Given the description of an element on the screen output the (x, y) to click on. 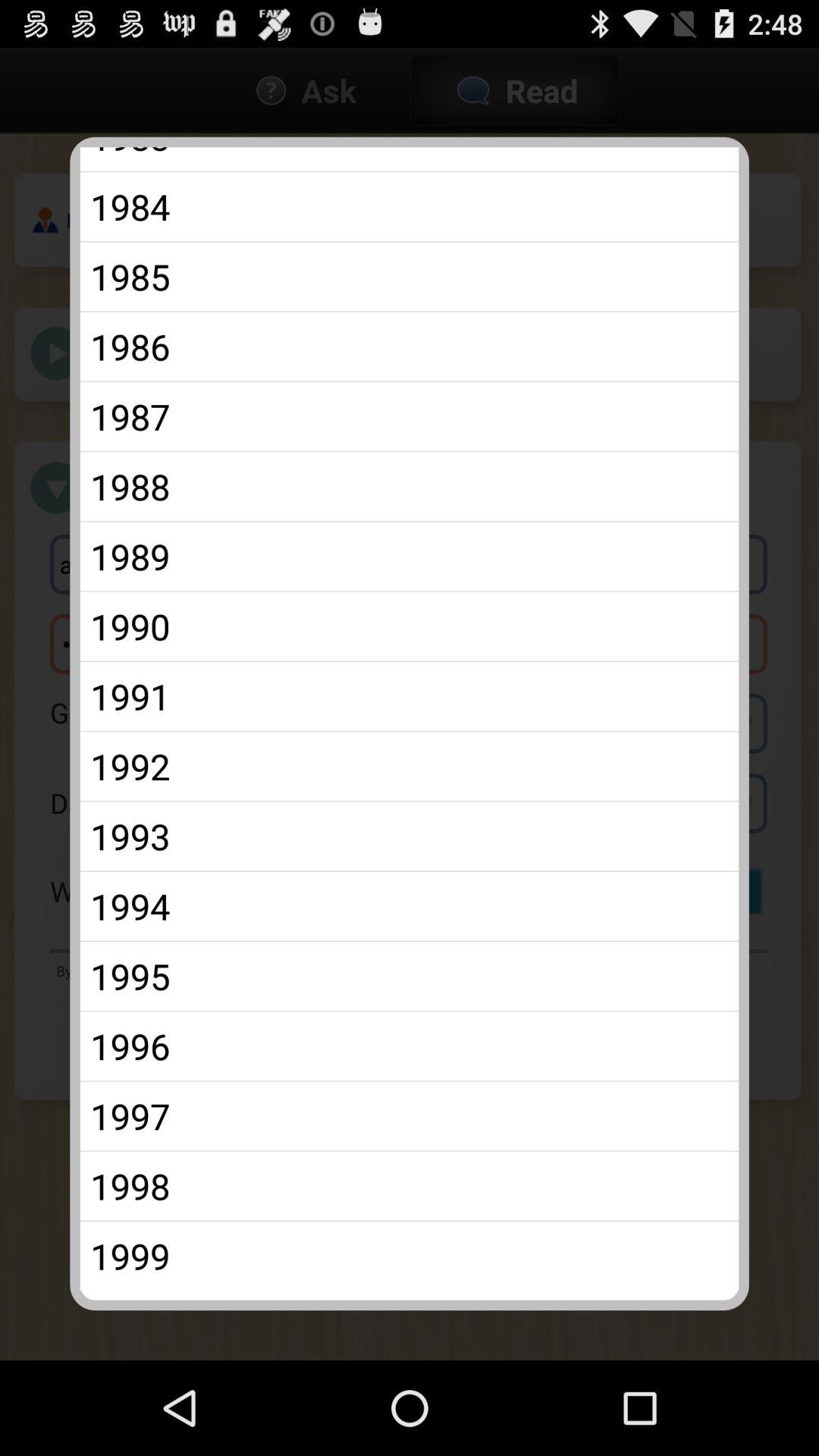
launch the app above 1991 icon (409, 626)
